Given the description of an element on the screen output the (x, y) to click on. 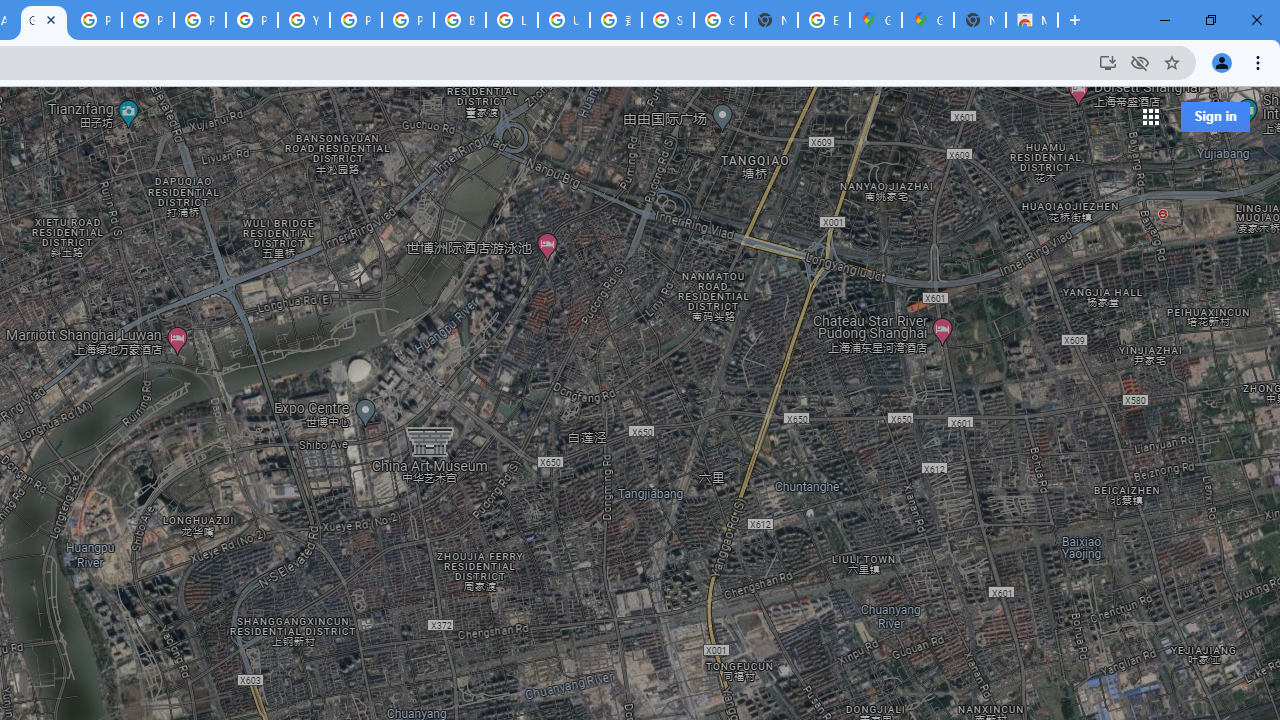
Google Maps (43, 20)
New Tab (979, 20)
Google Maps (875, 20)
Privacy Help Center - Policies Help (147, 20)
